Given the description of an element on the screen output the (x, y) to click on. 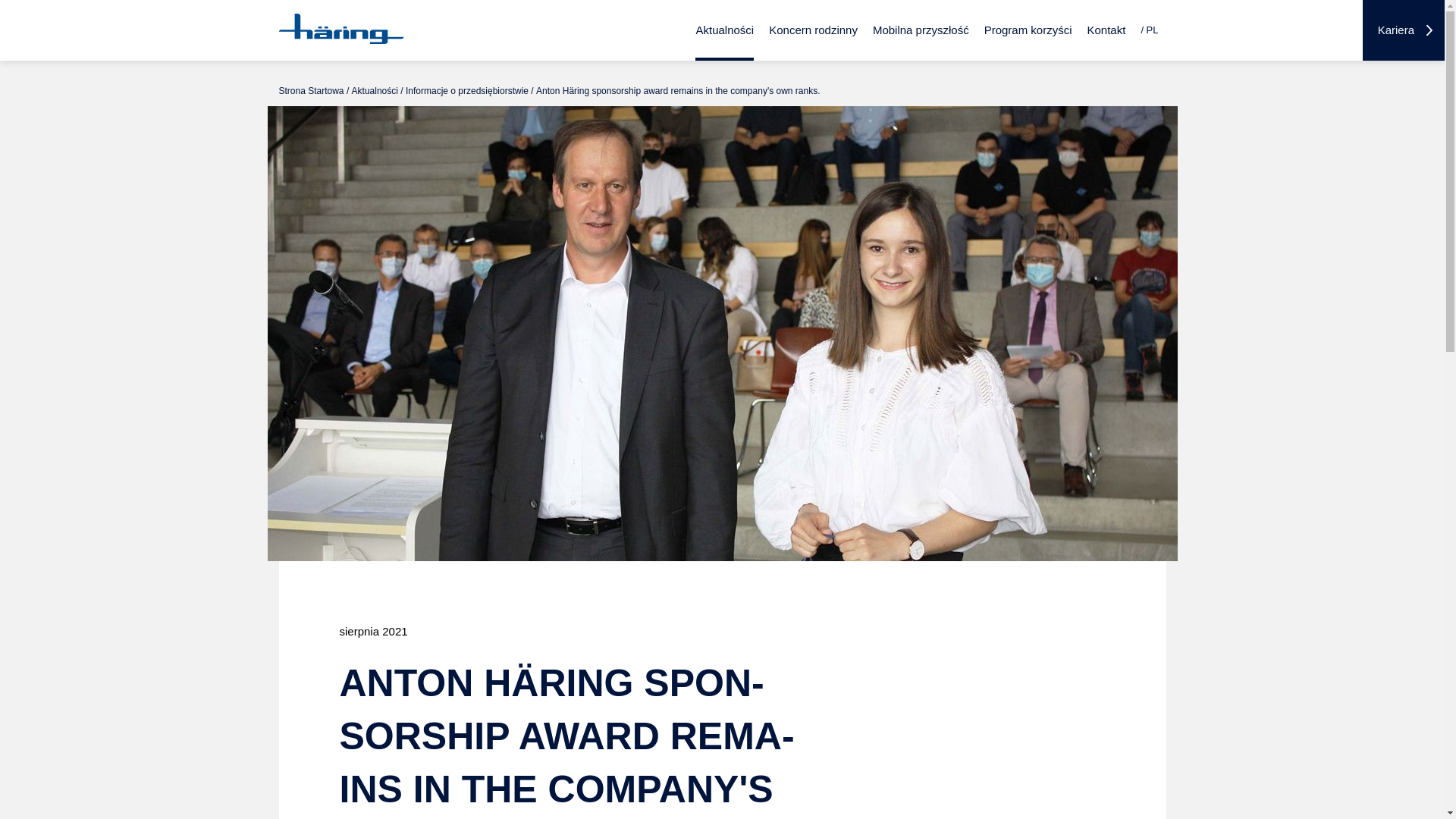
on (1137, 4)
Koncern rodzinny (812, 30)
